Given the description of an element on the screen output the (x, y) to click on. 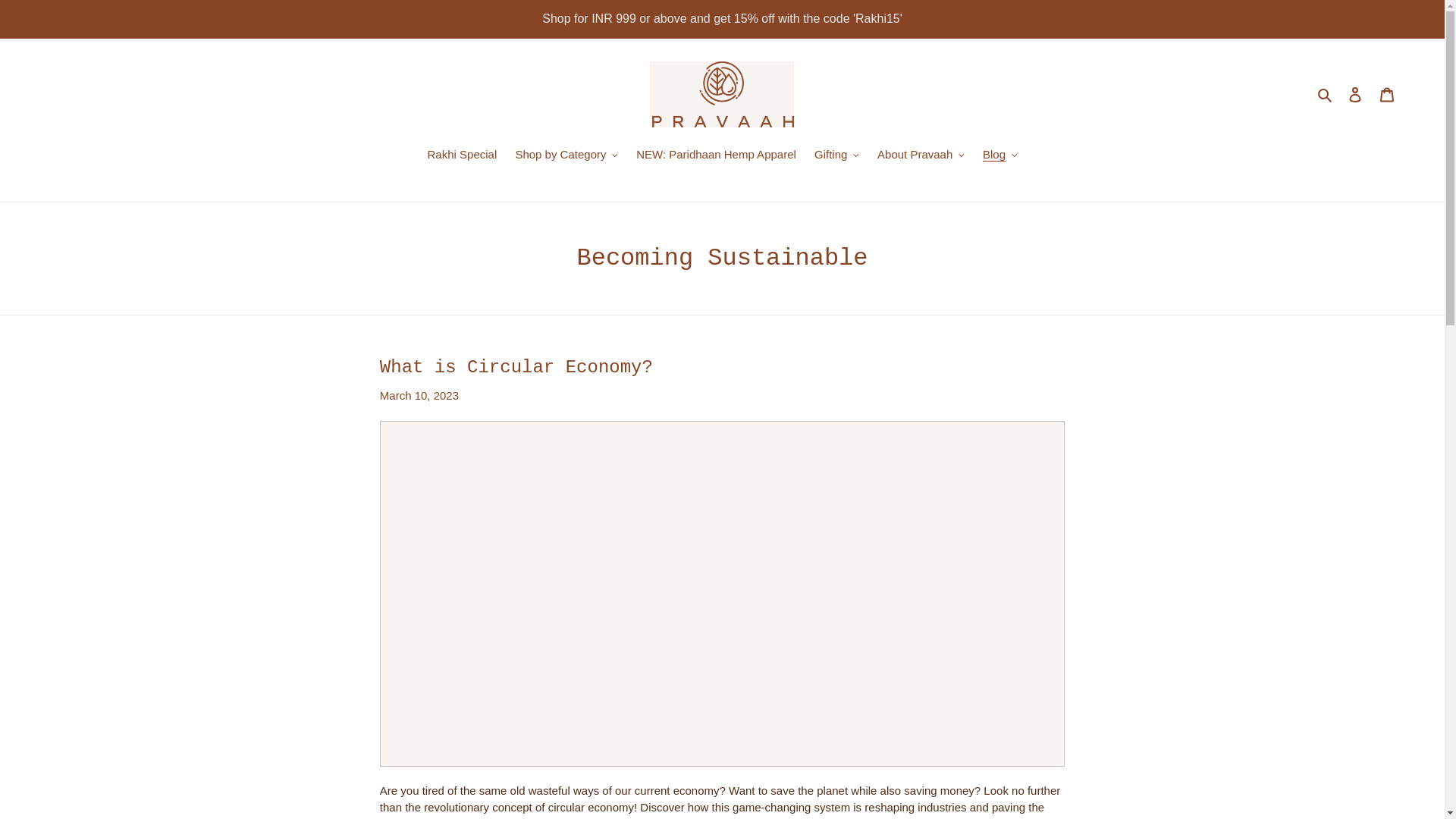
Log in (1355, 93)
Cart (1387, 93)
Search (1326, 94)
